Given the description of an element on the screen output the (x, y) to click on. 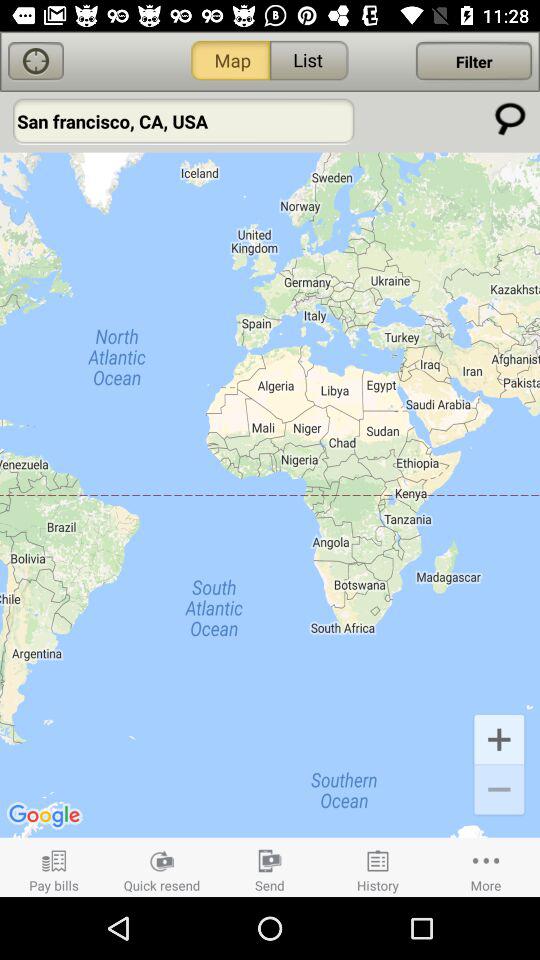
map button (35, 61)
